Given the description of an element on the screen output the (x, y) to click on. 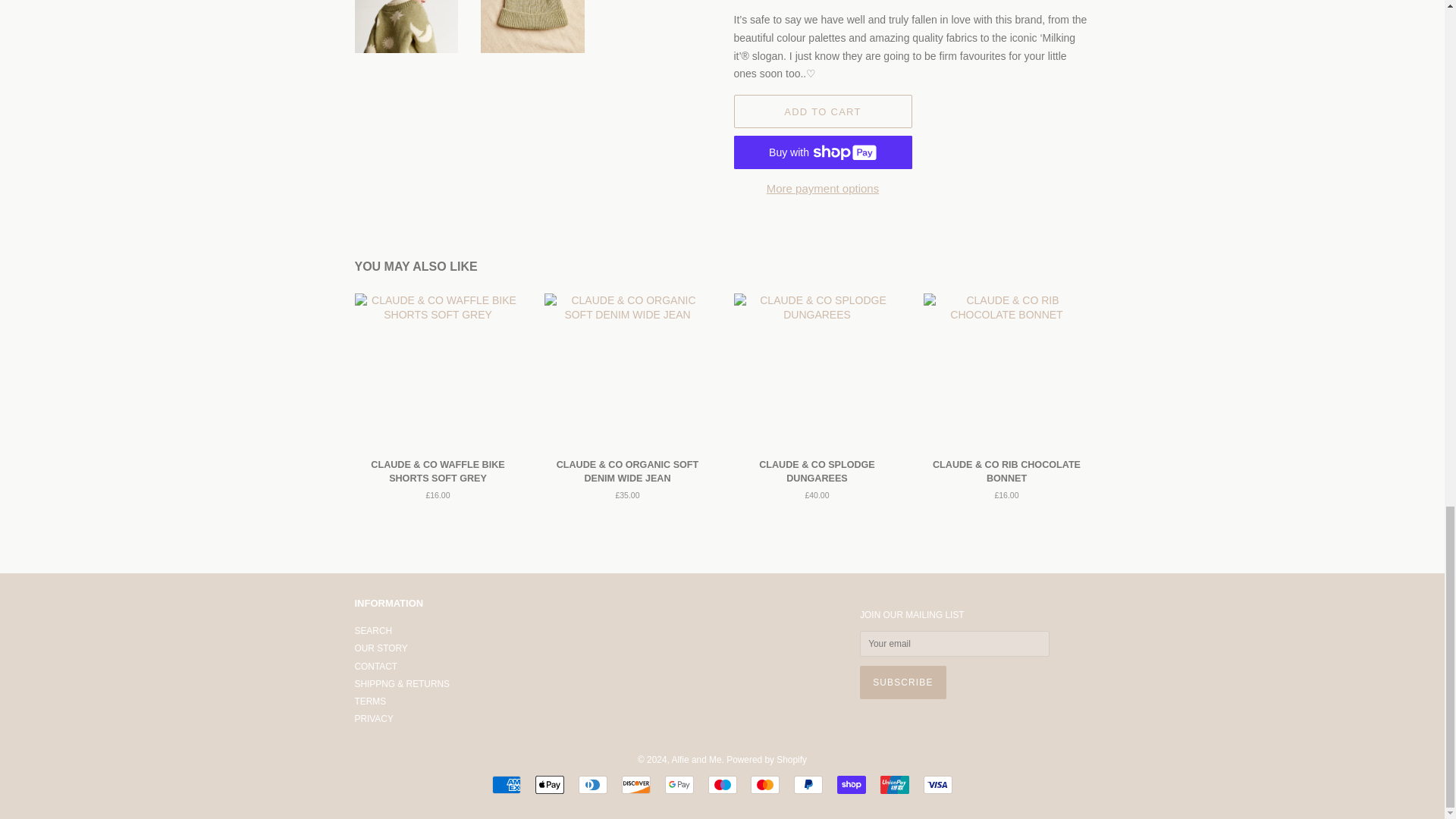
PayPal (807, 784)
Diners Club (592, 784)
Maestro (721, 784)
Mastercard (764, 784)
Google Pay (679, 784)
Discover (635, 784)
Apple Pay (549, 784)
Visa (937, 784)
American Express (506, 784)
Shop Pay (851, 784)
Union Pay (894, 784)
SUBSCRIBE (902, 682)
